Given the description of an element on the screen output the (x, y) to click on. 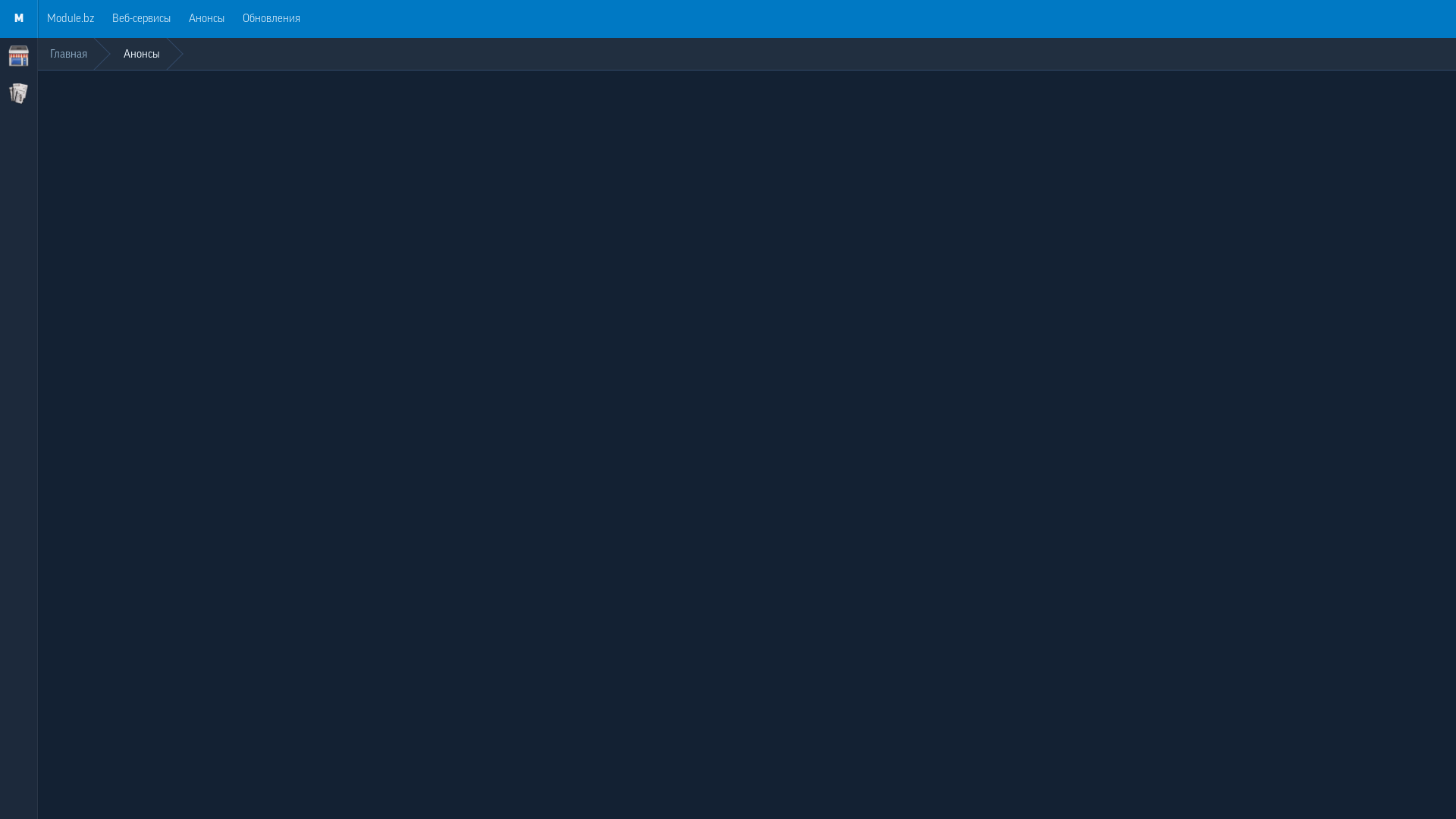
Module.bz Element type: text (70, 18)
